Given the description of an element on the screen output the (x, y) to click on. 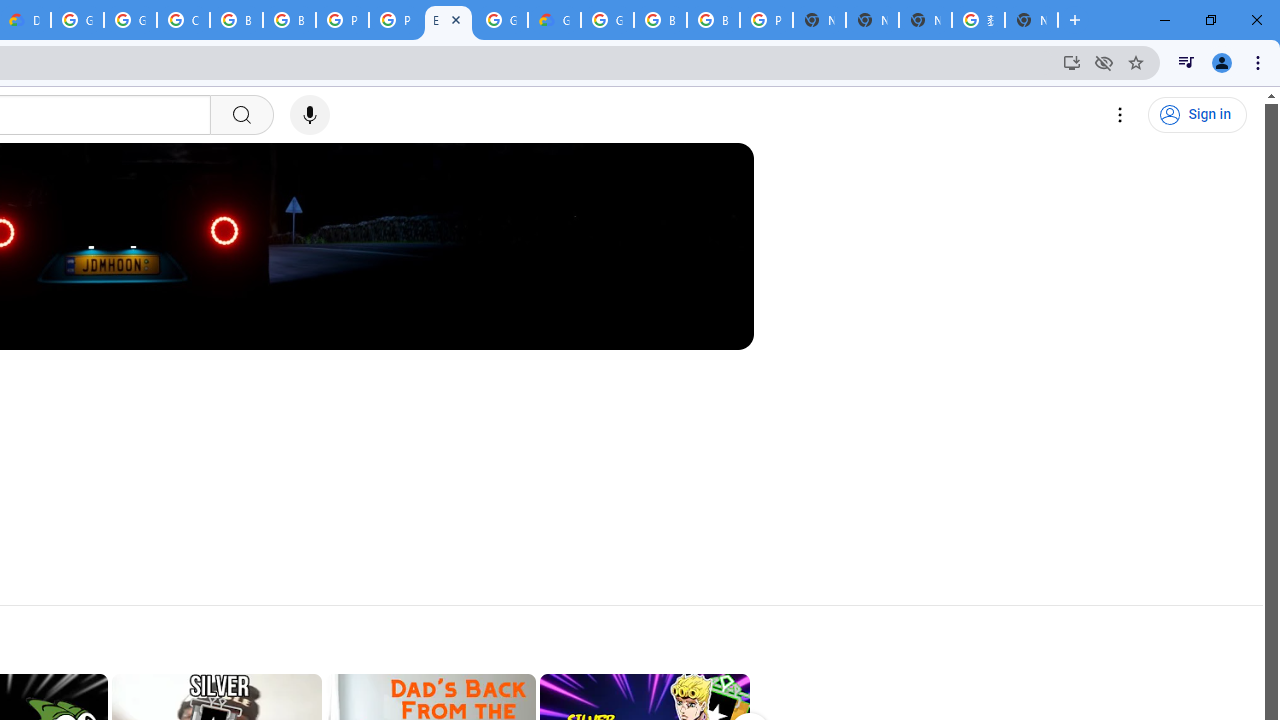
Google Cloud Platform (77, 20)
Google Cloud Estimate Summary (554, 20)
Browse Chrome as a guest - Computer - Google Chrome Help (235, 20)
Google Cloud Platform (501, 20)
Enno - YouTube (448, 20)
